Given the description of an element on the screen output the (x, y) to click on. 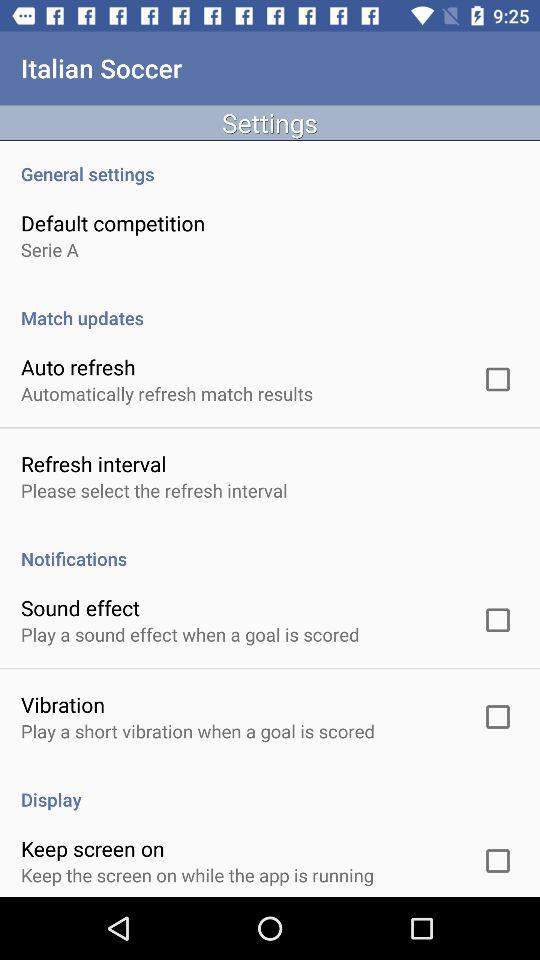
turn off please select the item (154, 490)
